Given the description of an element on the screen output the (x, y) to click on. 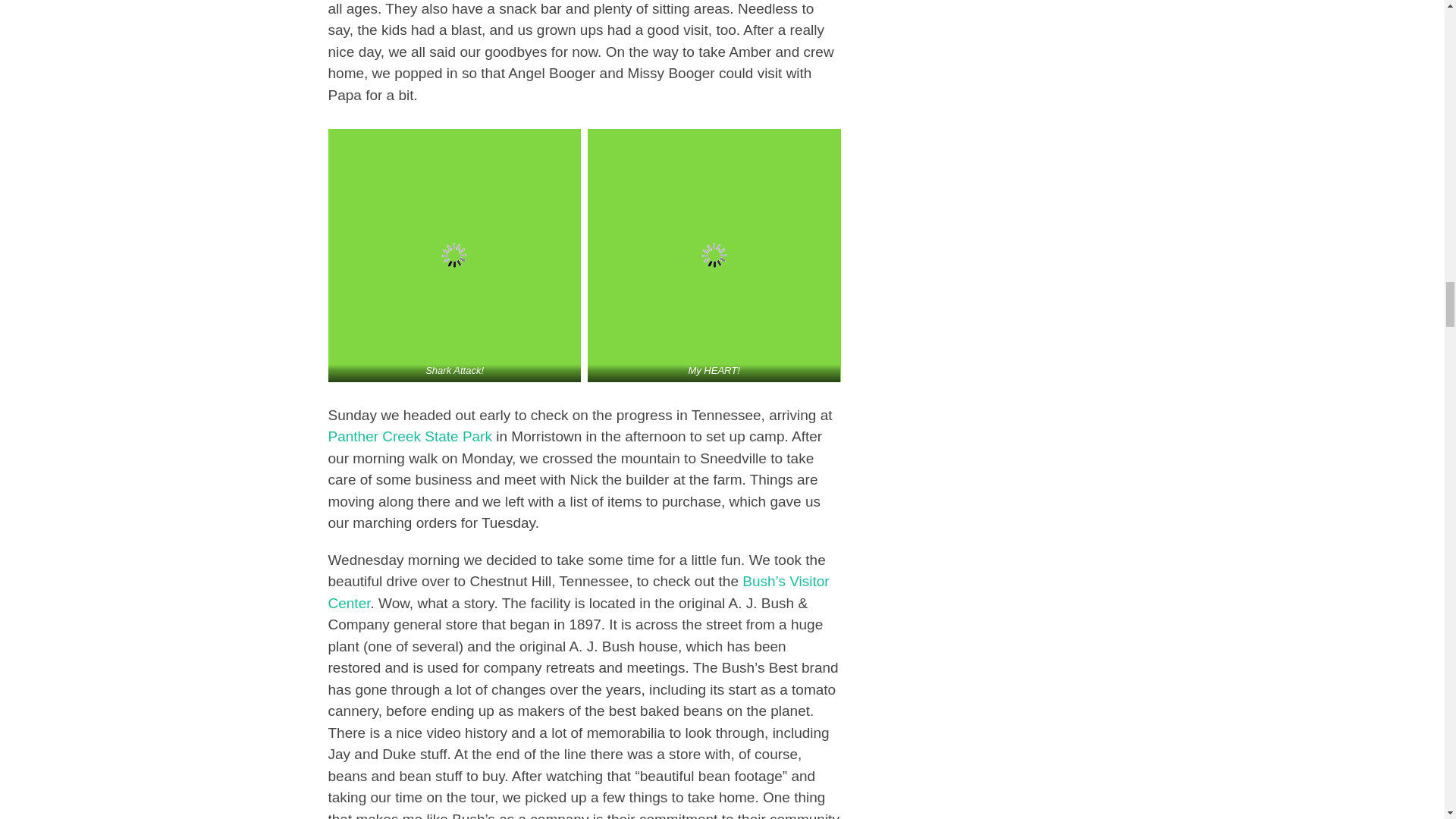
Panther Creek State Park (409, 436)
